Given the description of an element on the screen output the (x, y) to click on. 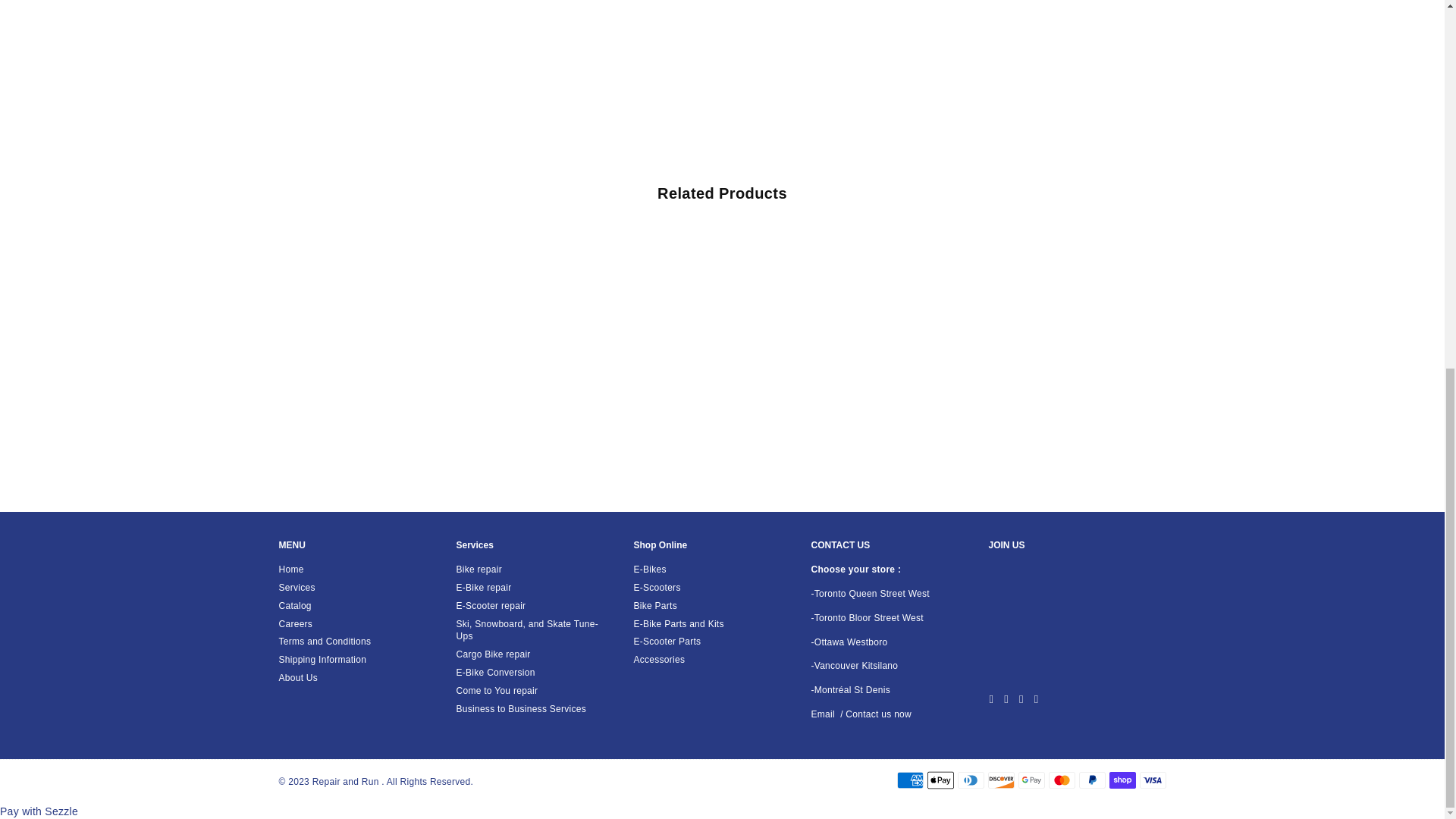
Mastercard (1061, 780)
American Express (909, 780)
Visa (1152, 780)
Diners Club (970, 780)
PayPal (1091, 780)
Discover (1000, 780)
Apple Pay (939, 780)
Shop Pay (1121, 780)
Google Pay (1030, 780)
